Given the description of an element on the screen output the (x, y) to click on. 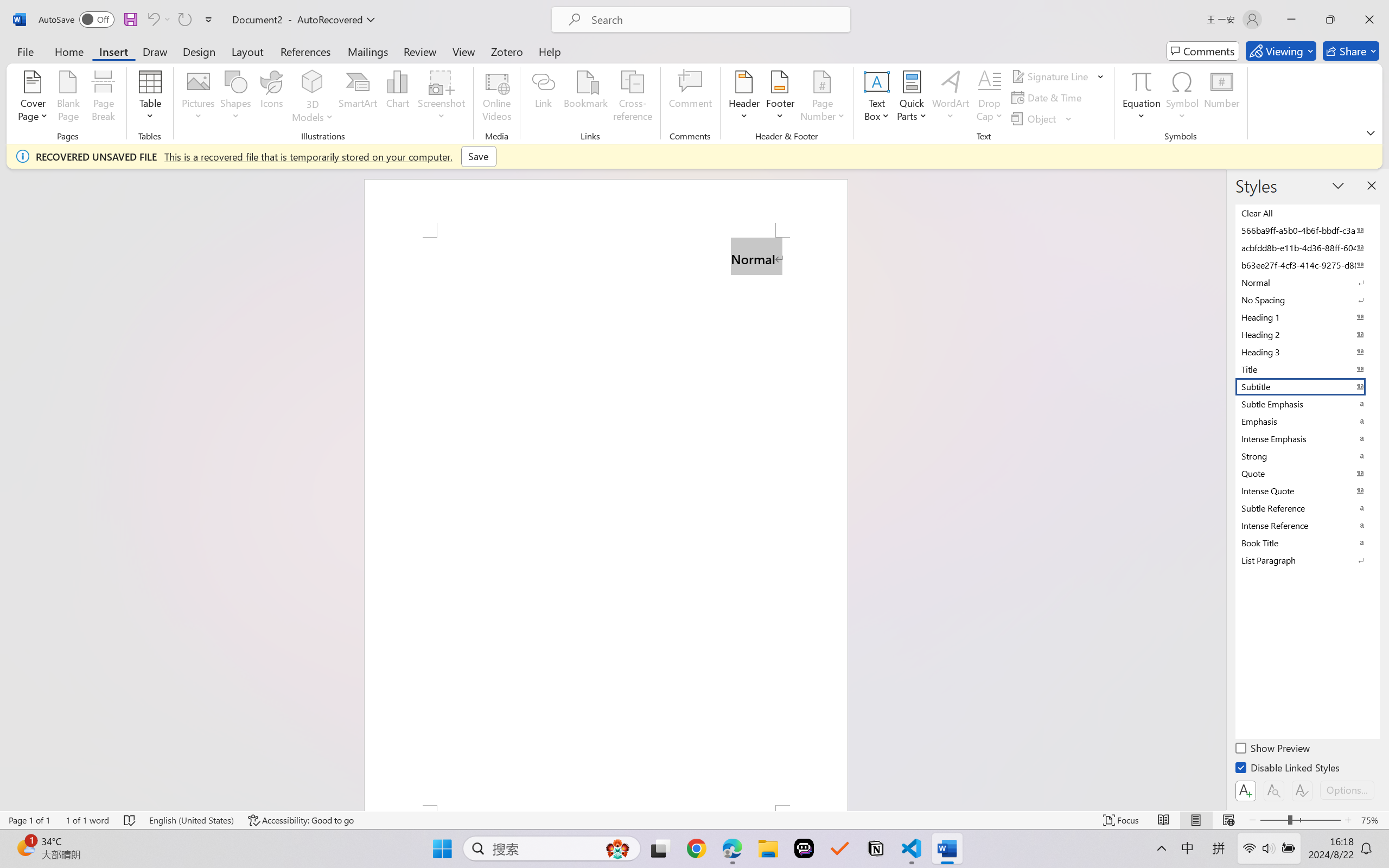
Microsoft search (715, 19)
Mode (1280, 50)
Normal (1306, 282)
Equation (1141, 81)
Symbol (1181, 97)
Can't Undo (158, 19)
Intense Quote (1306, 490)
Zoom 75% (1372, 819)
List Paragraph (1306, 560)
566ba9ff-a5b0-4b6f-bbdf-c3ab41993fc2 (1306, 230)
